Given the description of an element on the screen output the (x, y) to click on. 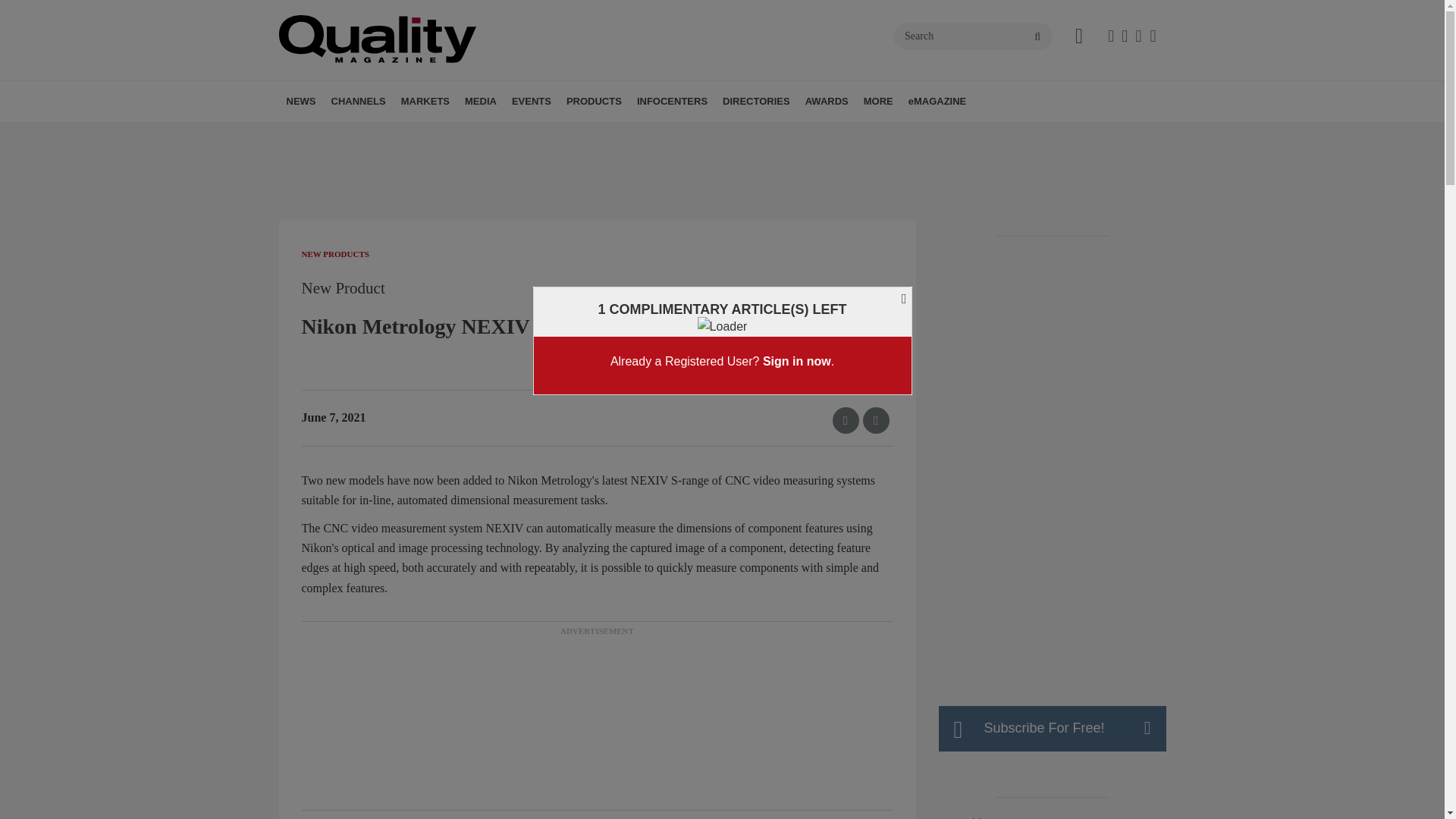
MARKETS (425, 101)
MANAGEMENT (424, 134)
SOFTWARE (445, 134)
AUTOMOTIVE (494, 134)
VIDEOS (570, 134)
NDT (436, 134)
MEDIA (480, 101)
MEASUREMENT (430, 134)
MEDICAL (515, 134)
Search (972, 35)
